Given the description of an element on the screen output the (x, y) to click on. 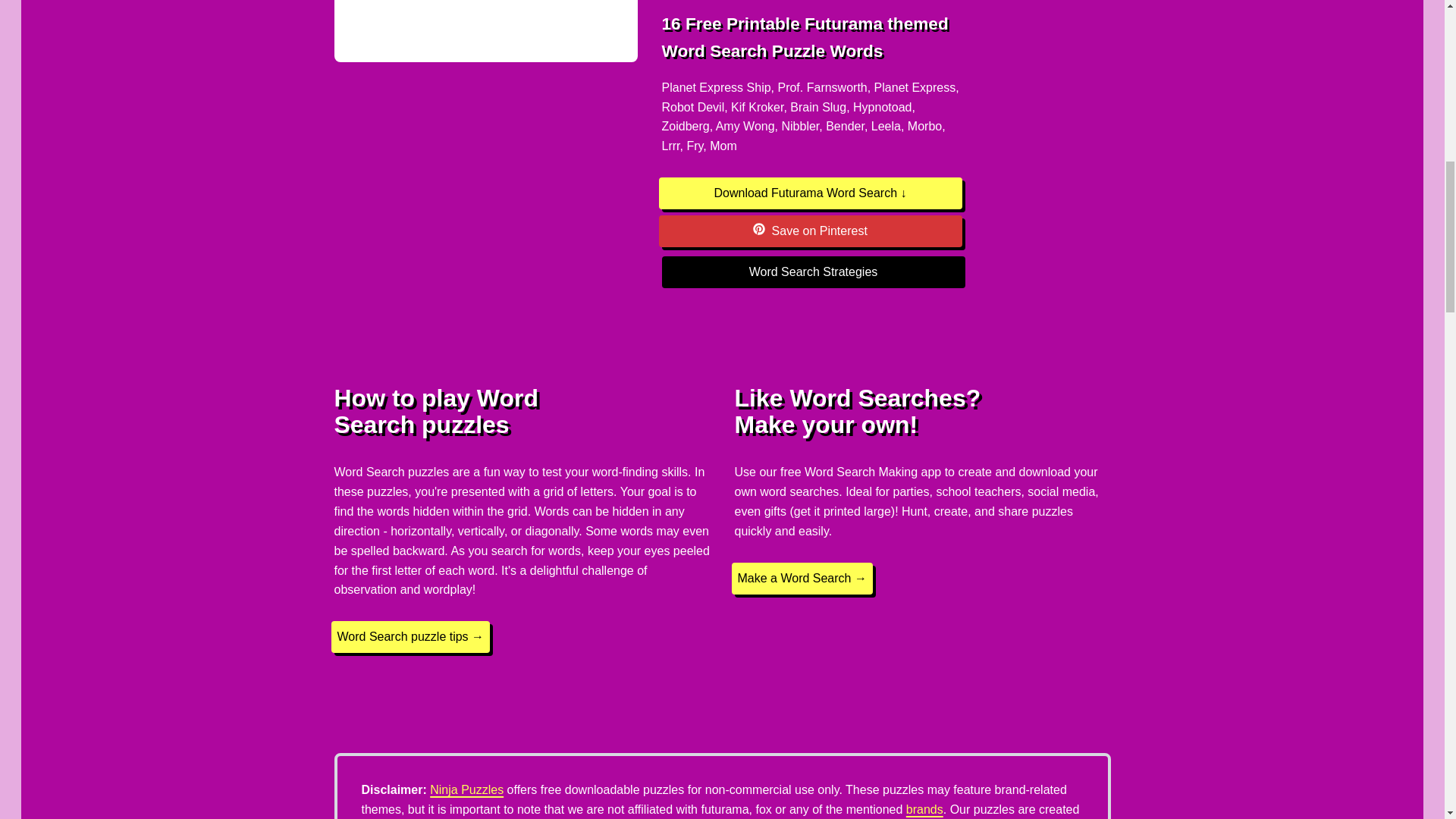
Ninja Puzzles (466, 789)
Save on Pinterest (809, 231)
brands (924, 809)
Word Search Strategies (812, 272)
